Given the description of an element on the screen output the (x, y) to click on. 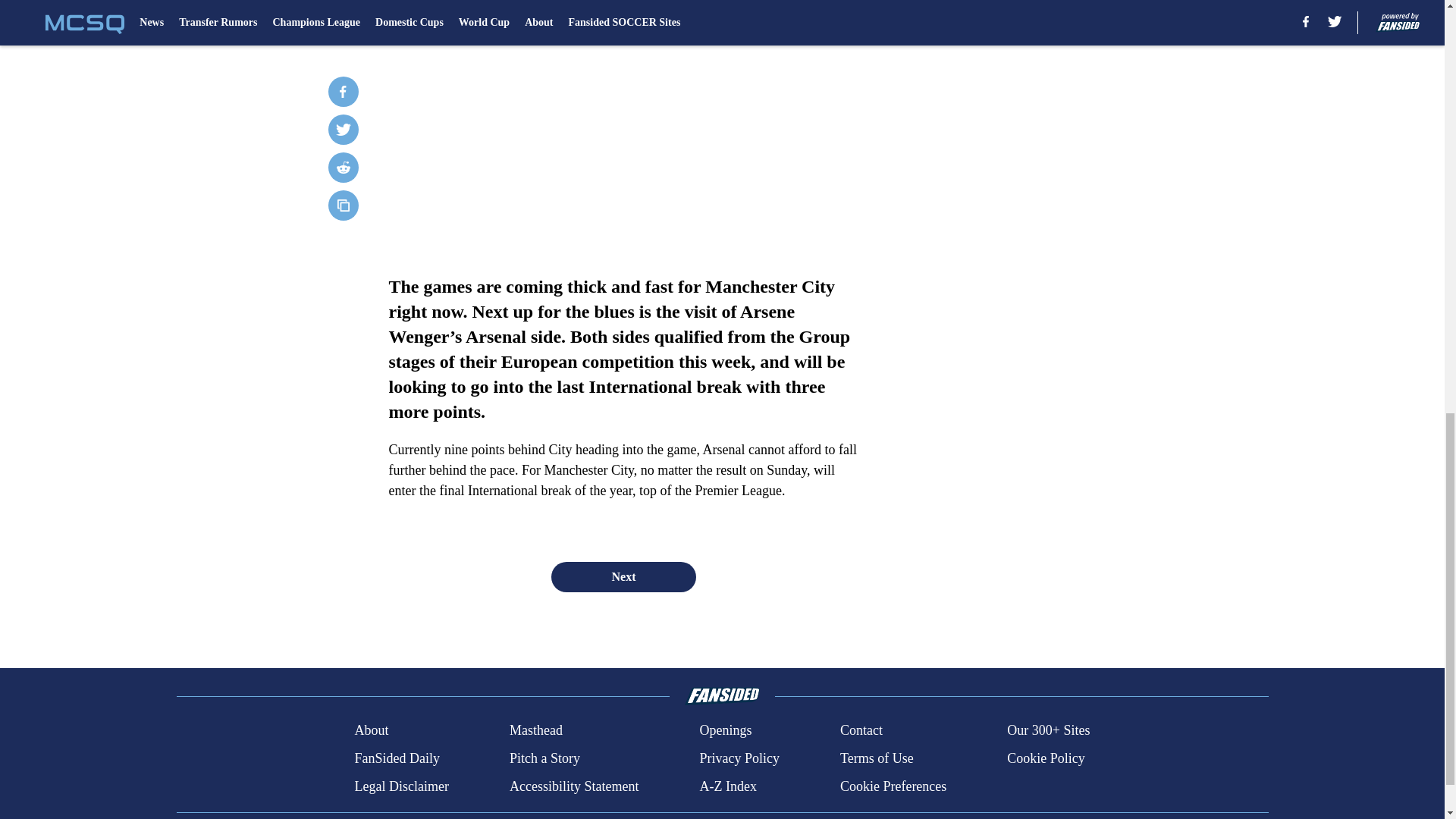
Cookie Policy (1045, 758)
About (370, 730)
Next (622, 576)
Terms of Use (877, 758)
Cookie Preferences (893, 786)
Masthead (535, 730)
FanSided Daily (396, 758)
A-Z Index (726, 786)
Legal Disclaimer (400, 786)
Openings (724, 730)
Pitch a Story (544, 758)
Contact (861, 730)
Accessibility Statement (574, 786)
Privacy Policy (738, 758)
